Given the description of an element on the screen output the (x, y) to click on. 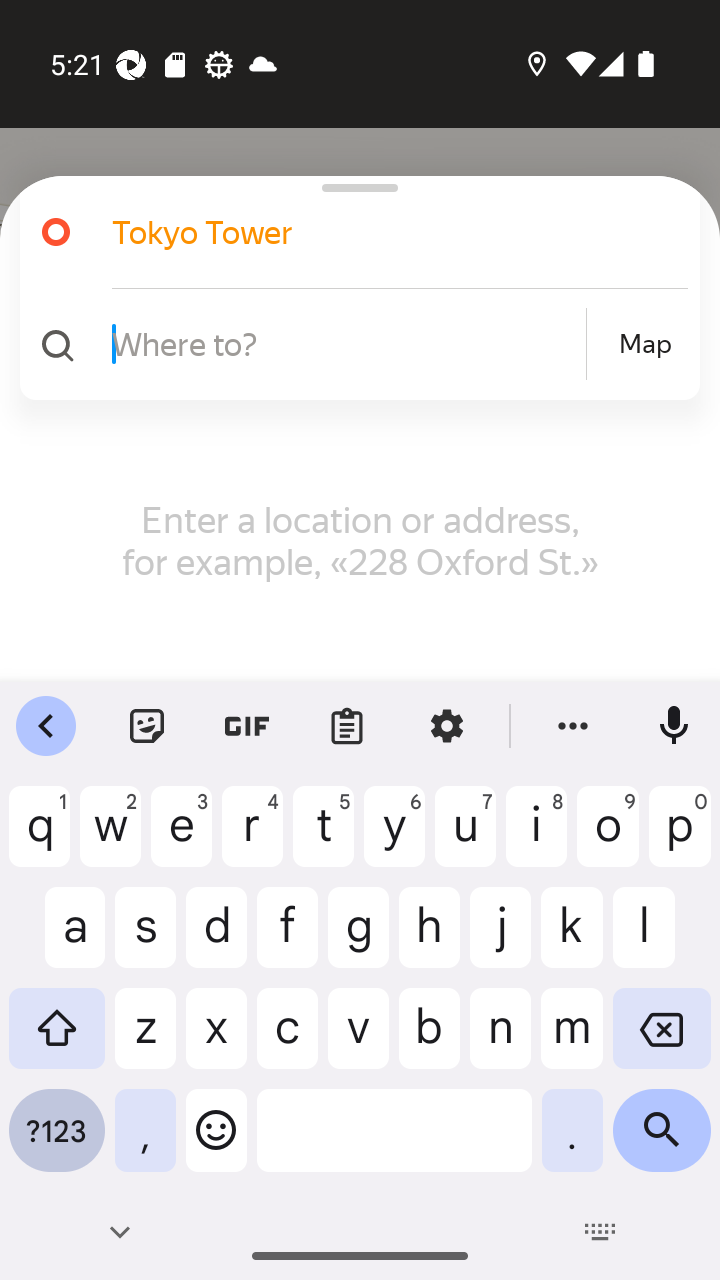
Tokyo Tower (352, 232)
Tokyo Tower (373, 232)
Where to? Map Map (352, 343)
Map (645, 343)
Where to? (346, 343)
